Given the description of an element on the screen output the (x, y) to click on. 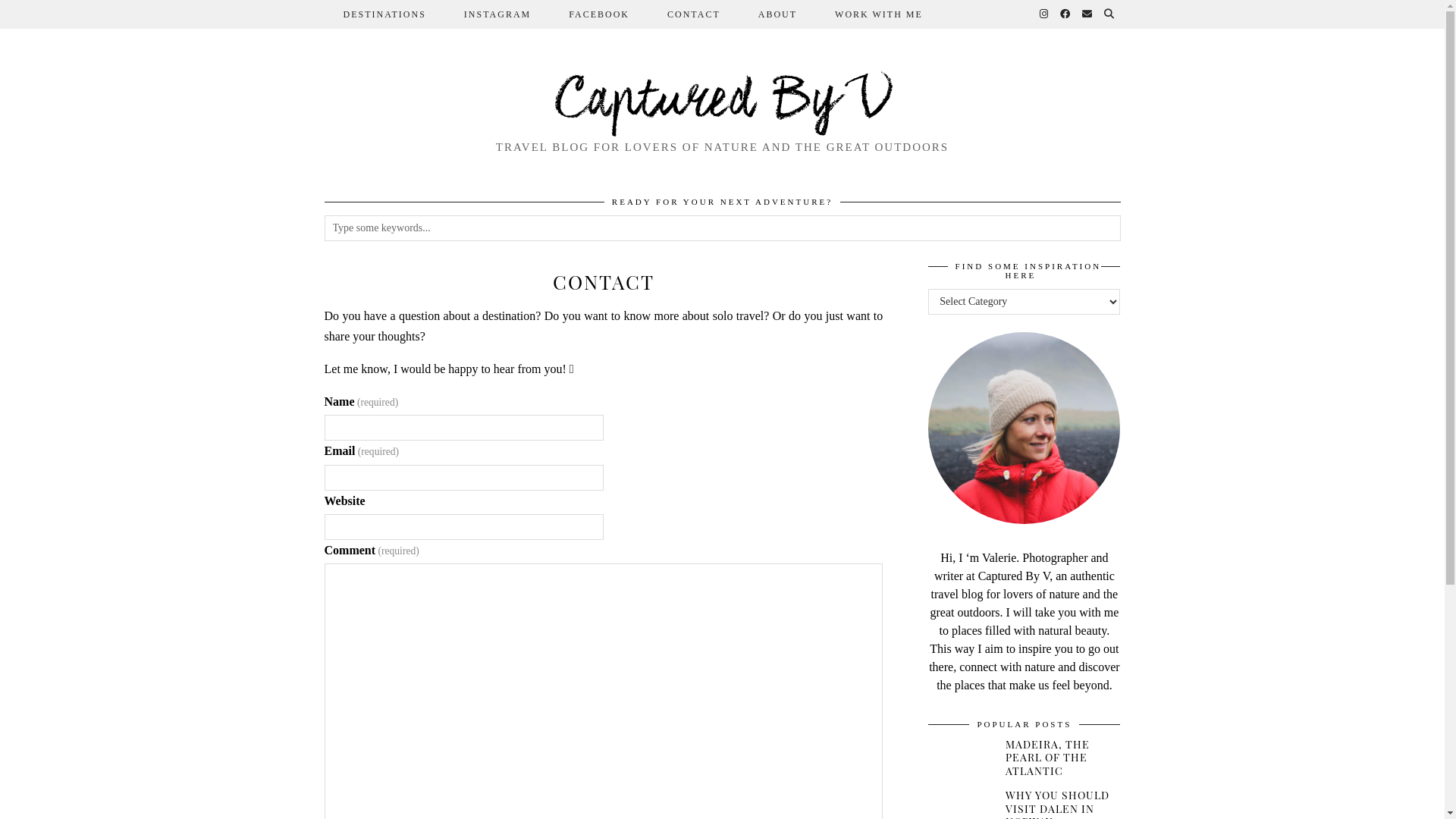
DESTINATIONS Element type: text (384, 14)
ABOUT Element type: text (777, 14)
Search Element type: hover (1109, 14)
Instagram Element type: hover (1043, 14)
CONTACT Element type: text (693, 14)
MADEIRA, THE PEARL OF THE ATLANTIC Element type: text (1062, 757)
Facebook Element type: hover (1065, 14)
Email Element type: hover (1086, 14)
INSTAGRAM Element type: text (497, 14)
FACEBOOK Element type: text (598, 14)
Please enter a valid URL - https://www.example.com Element type: hover (463, 526)
Captured By V Element type: text (721, 101)
WORK WITH ME Element type: text (878, 14)
